Given the description of an element on the screen output the (x, y) to click on. 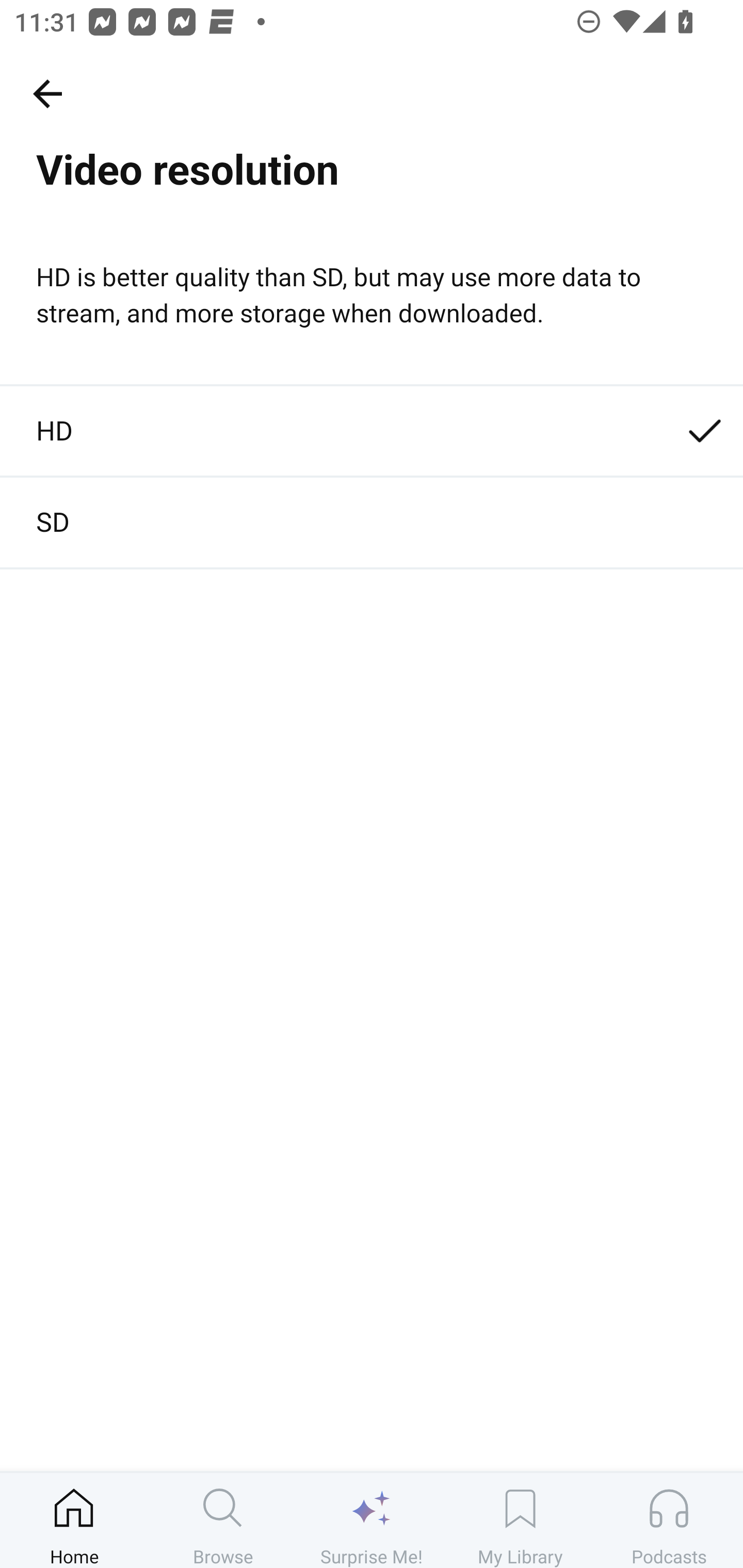
Settings, back (47, 92)
HD (371, 430)
SD (371, 522)
Home (74, 1520)
Browse (222, 1520)
Surprise Me! (371, 1520)
My Library (519, 1520)
Podcasts (668, 1520)
